Given the description of an element on the screen output the (x, y) to click on. 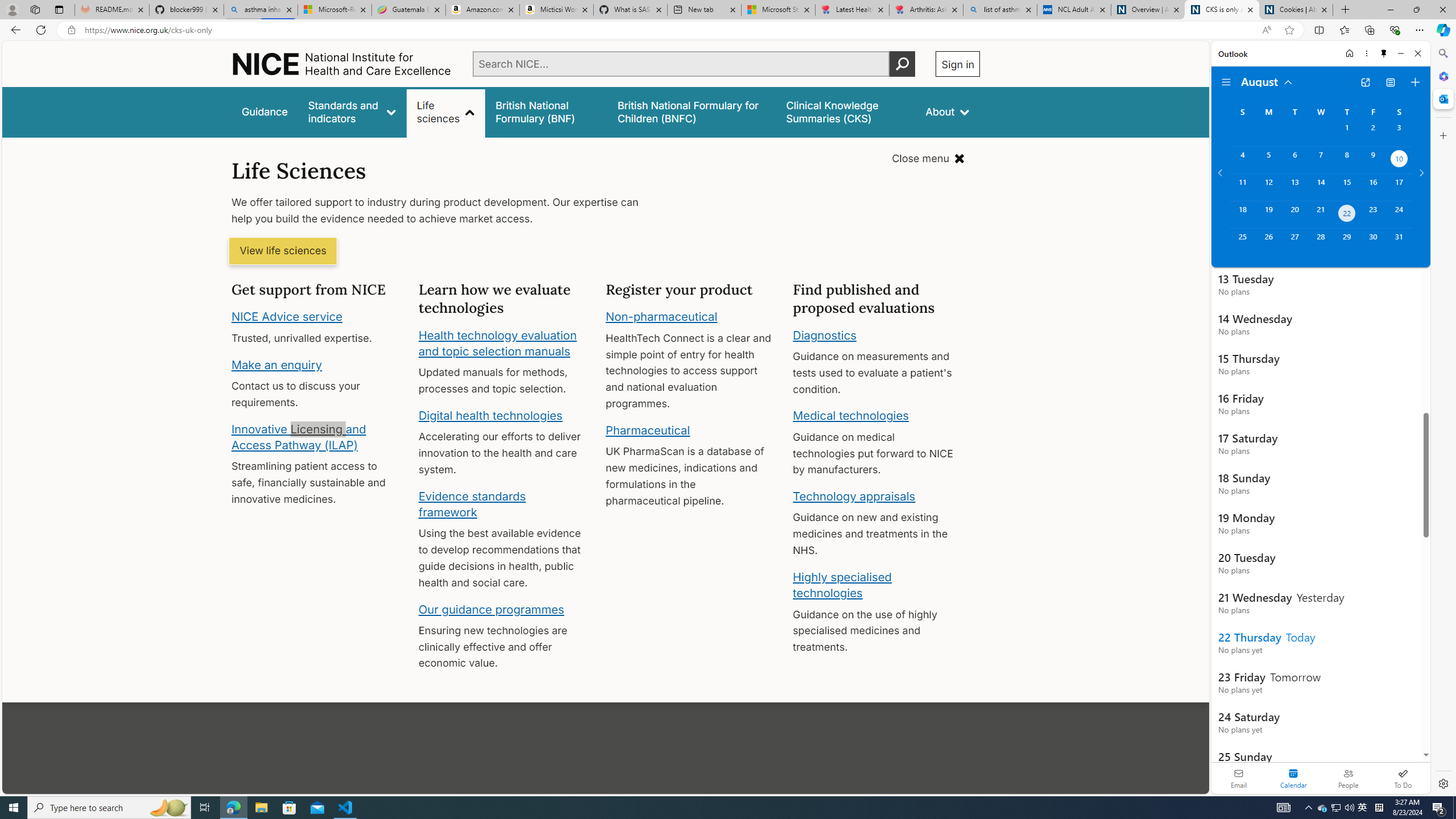
Monday, August 5, 2024.  (1268, 159)
Wednesday, August 7, 2024.  (1320, 159)
Wednesday, August 14, 2024.  (1320, 186)
Saturday, August 31, 2024.  (1399, 241)
Technology appraisals (854, 495)
Close Outlook pane (1442, 98)
App bar (728, 29)
Sunday, August 18, 2024.  (1242, 214)
View Switcher. Current view is Agenda view (1390, 82)
